Given the description of an element on the screen output the (x, y) to click on. 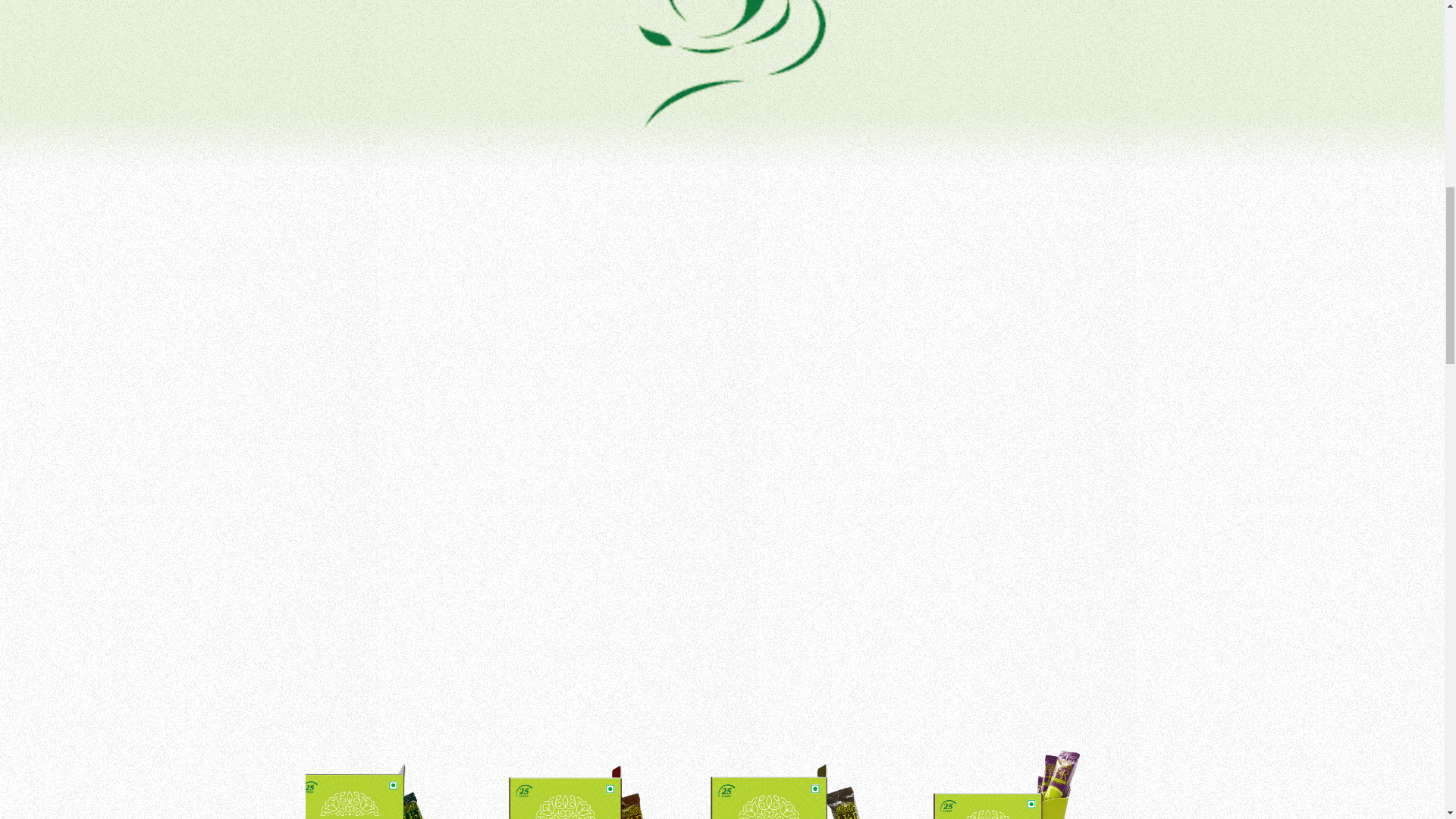
tea (721, 76)
